Given the description of an element on the screen output the (x, y) to click on. 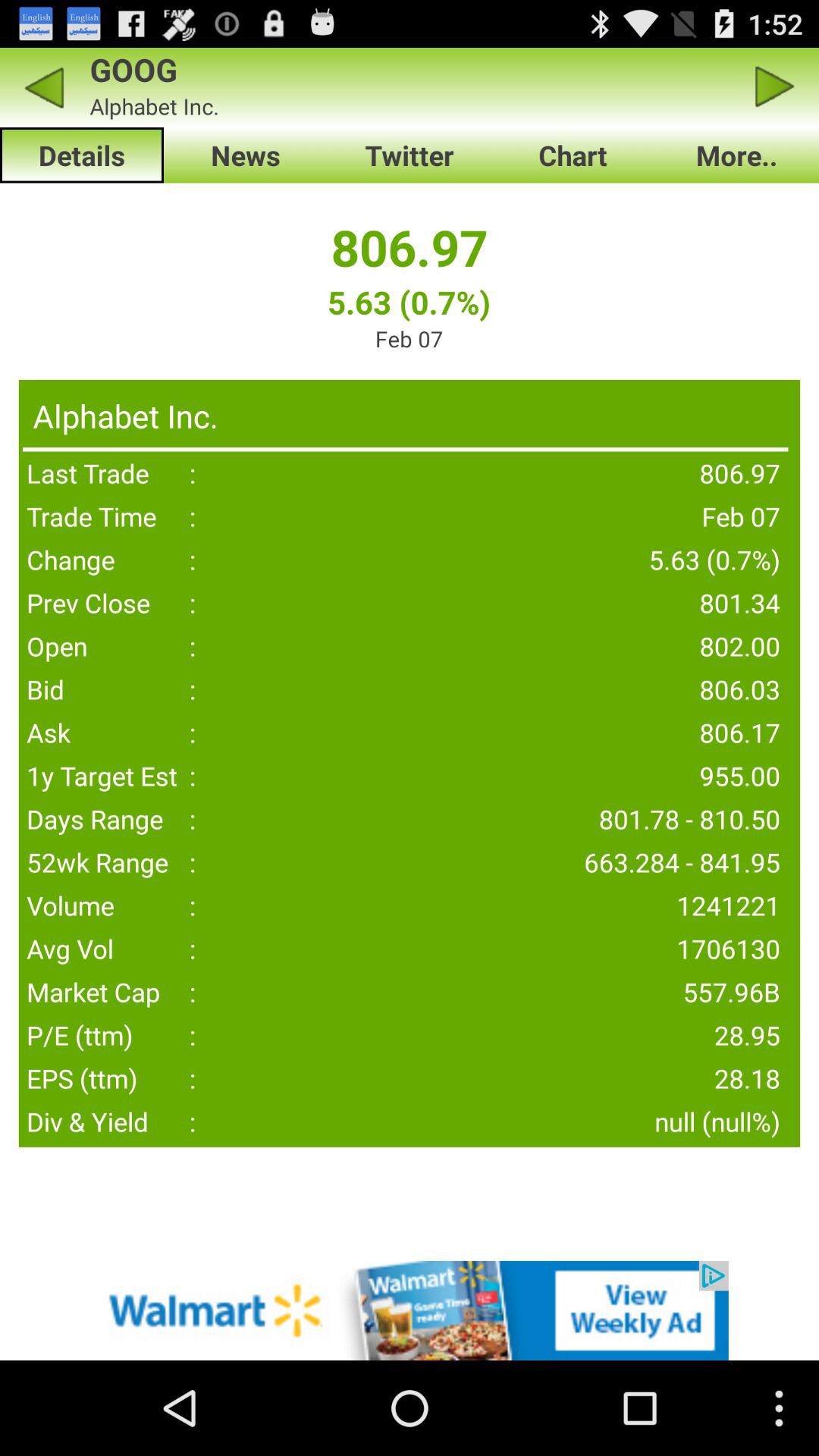
play button (775, 87)
